Given the description of an element on the screen output the (x, y) to click on. 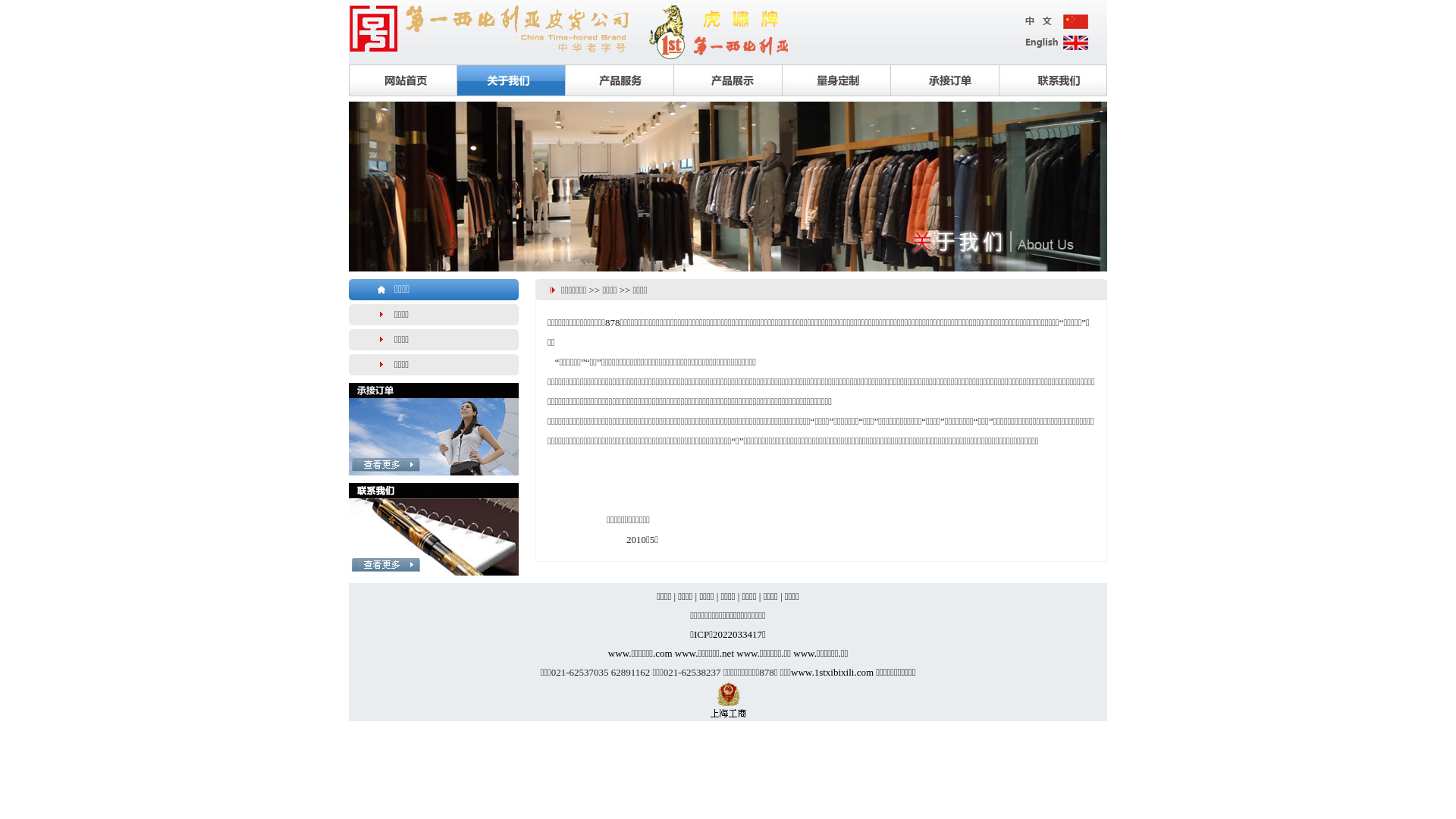
www.1stxibixili.com Element type: text (831, 671)
